Given the description of an element on the screen output the (x, y) to click on. 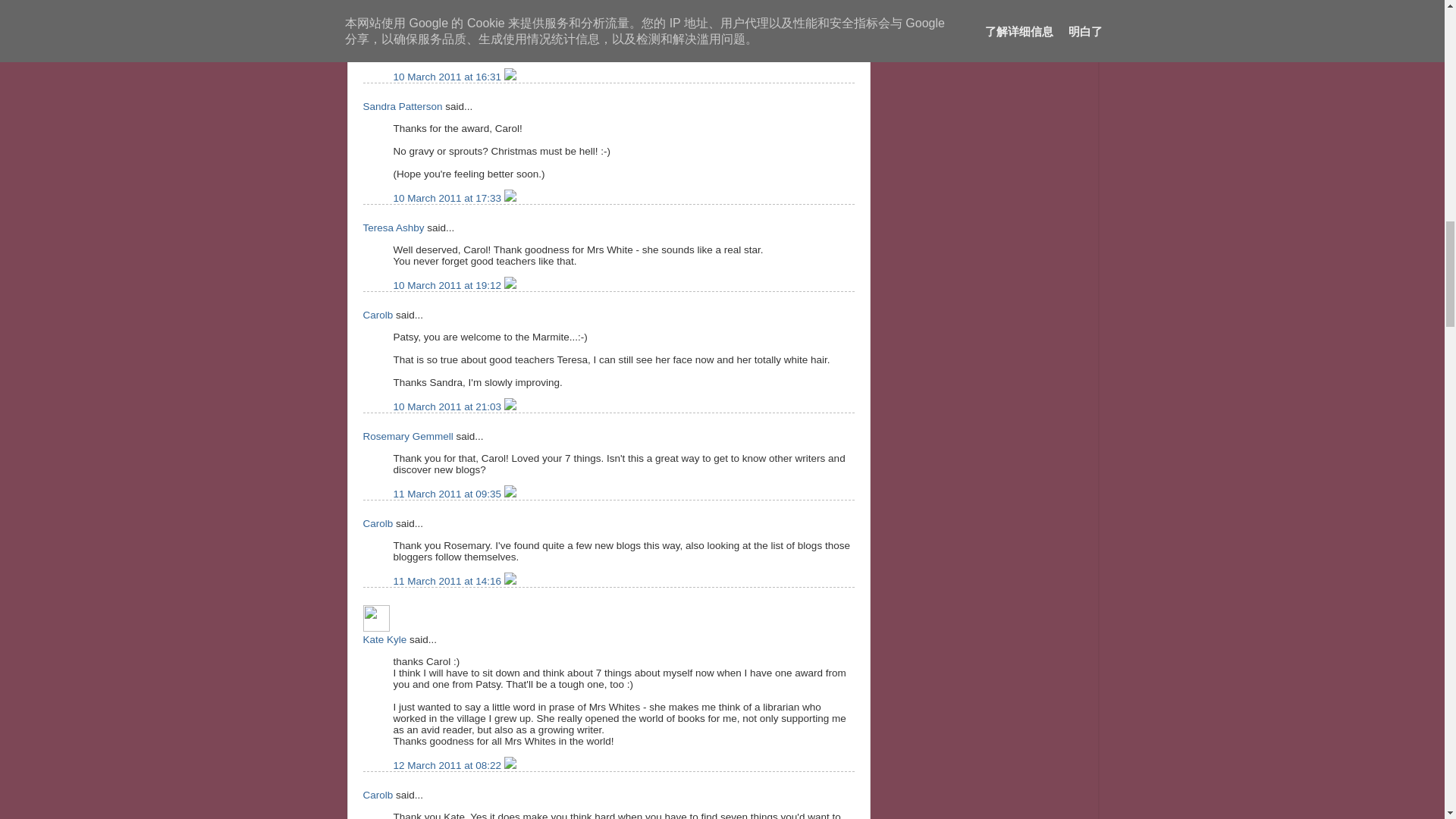
Teresa Ashby (392, 227)
comment permalink (448, 197)
10 March 2011 at 17:33 (448, 197)
Delete Comment (509, 76)
Delete Comment (509, 197)
Patsy (375, 1)
comment permalink (448, 285)
Sandra Patterson (402, 106)
comment permalink (448, 76)
10 March 2011 at 16:31 (448, 76)
